Given the description of an element on the screen output the (x, y) to click on. 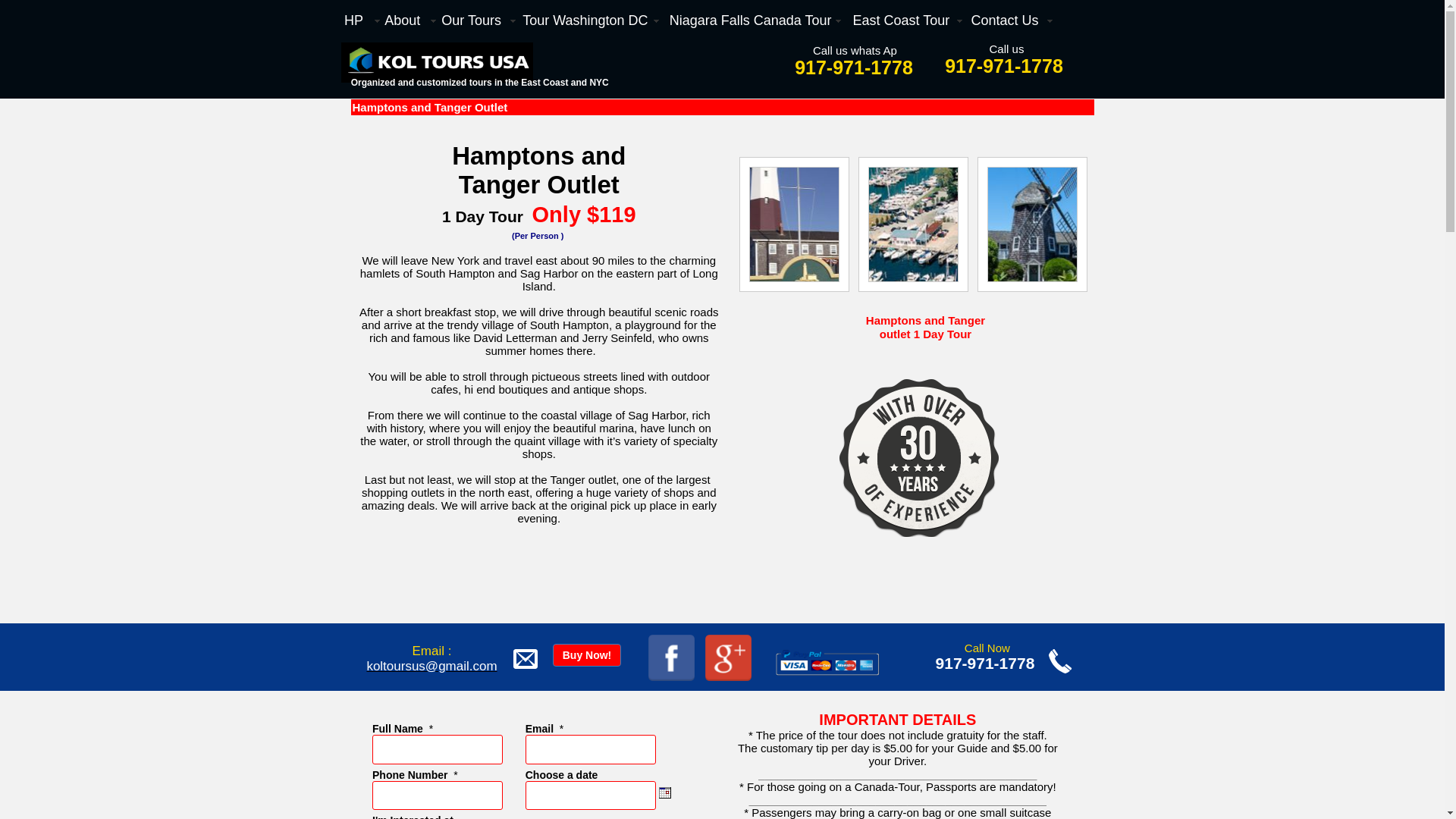
East Coast Tour (909, 20)
About (409, 20)
Our Tours (478, 20)
HP (360, 20)
917-971-1778 (1006, 65)
Niagara Falls Canada Tour (758, 20)
Tour Washington DC (592, 20)
Organized and customized tours in the East Coast and NYC (480, 87)
